Given the description of an element on the screen output the (x, y) to click on. 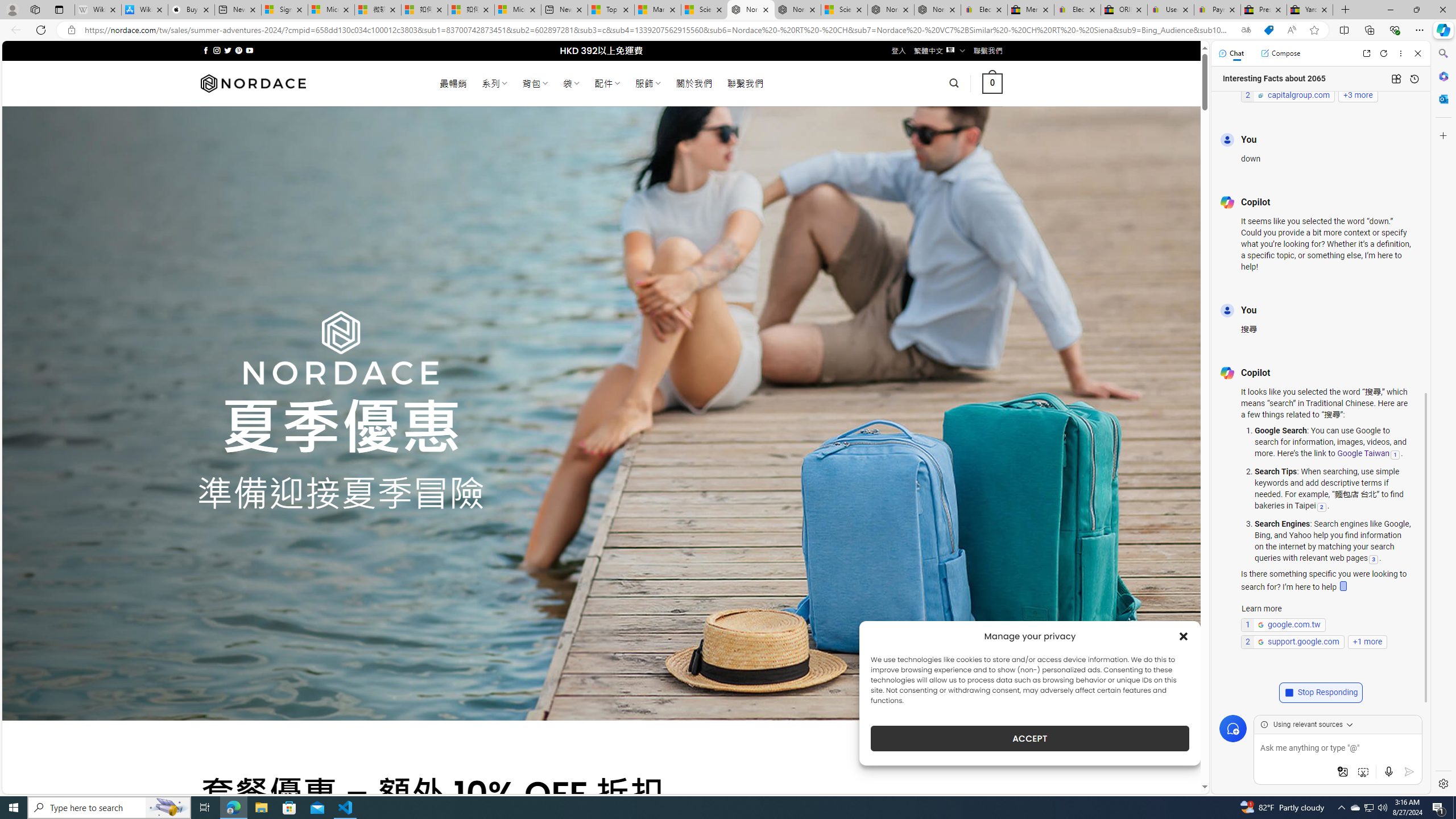
Yard, Garden & Outdoor Living (1309, 9)
Marine life - MSN (656, 9)
 0  (992, 83)
